Given the description of an element on the screen output the (x, y) to click on. 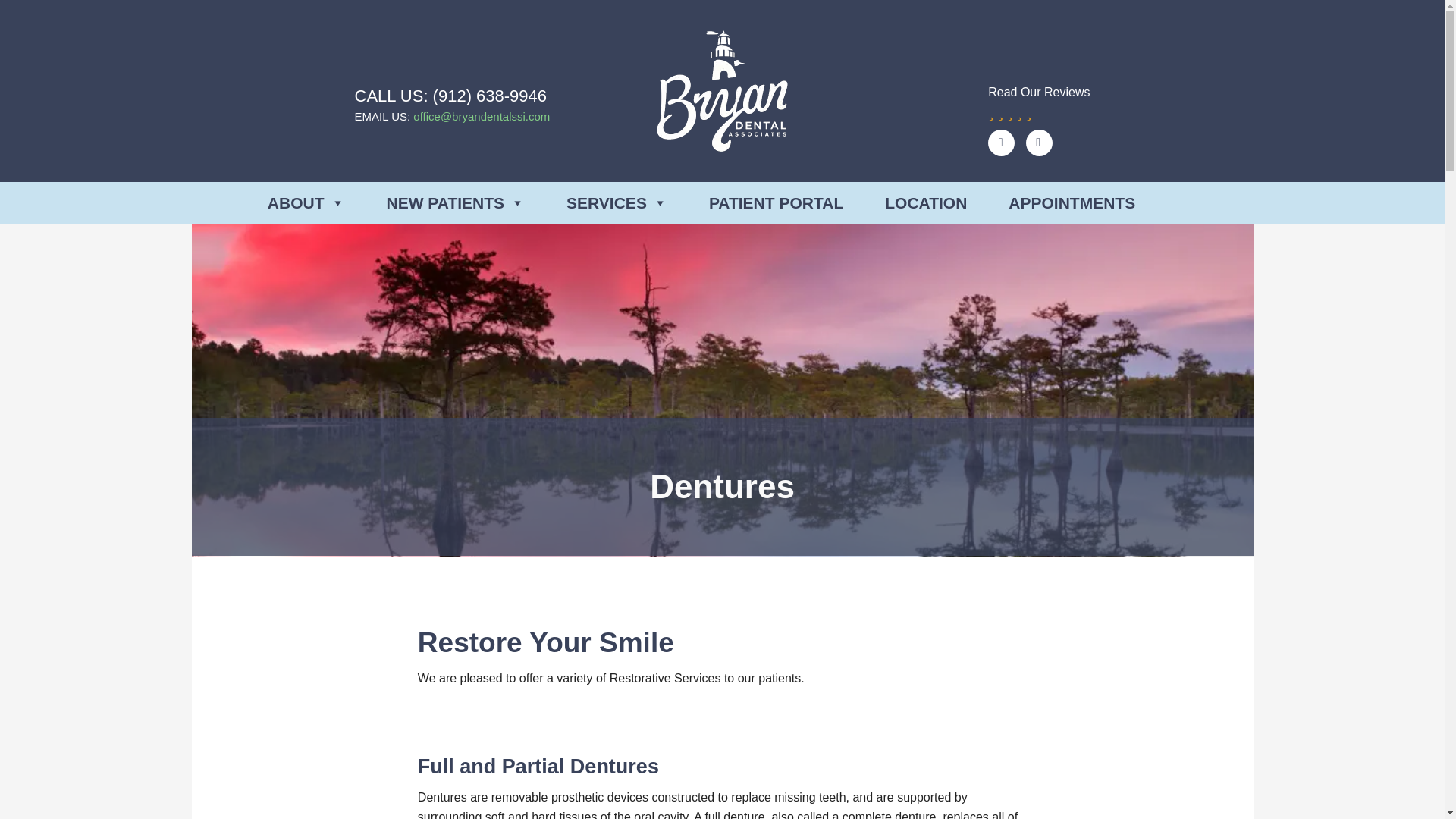
Read Our Reviews (1038, 100)
APPOINTMENTS (1072, 202)
Facebook (1039, 142)
Google Maps (1001, 142)
SERVICES (616, 202)
PATIENT PORTAL (776, 202)
NEW PATIENTS (456, 202)
ABOUT (306, 202)
LOCATION (925, 202)
